Given the description of an element on the screen output the (x, y) to click on. 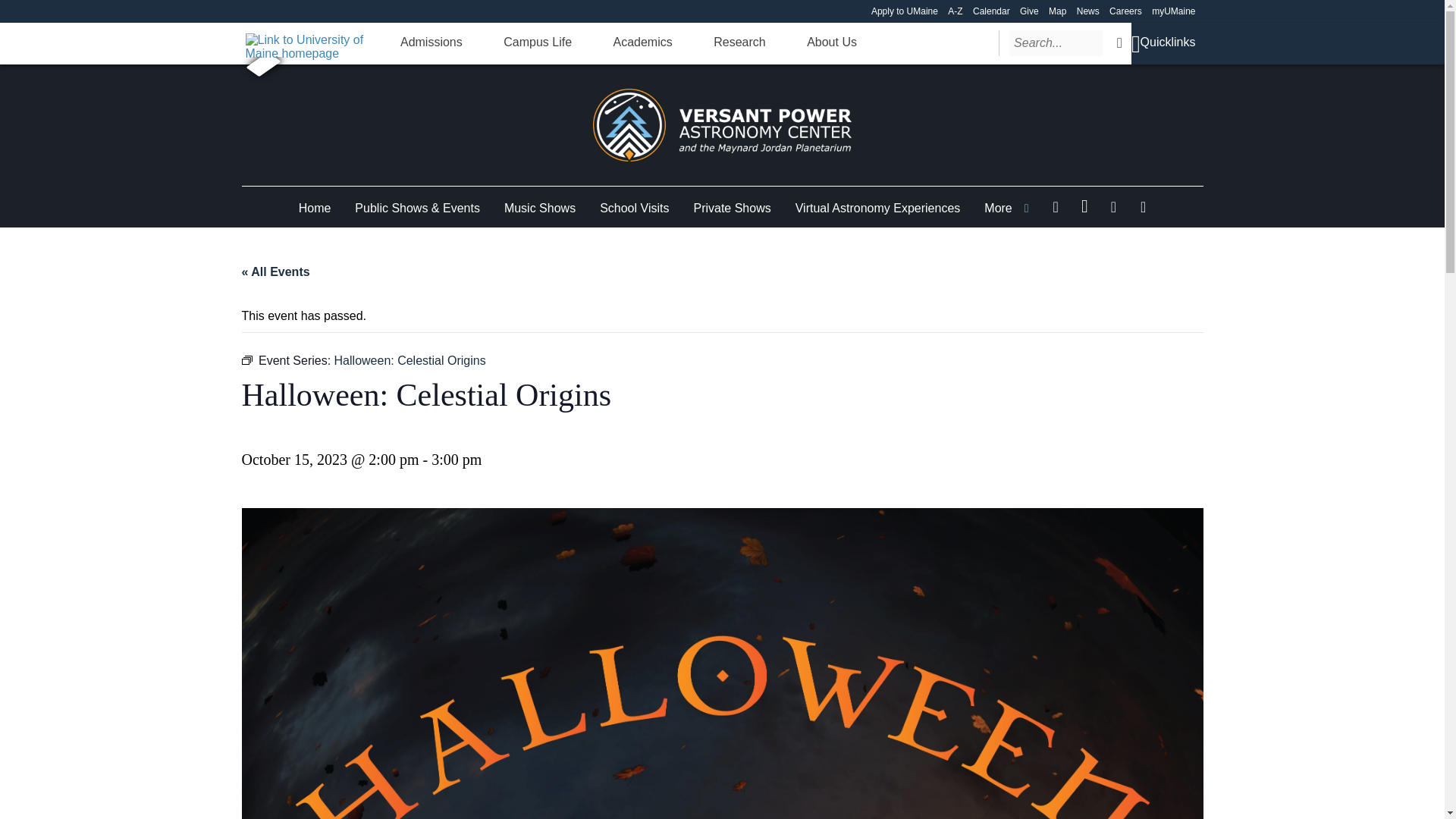
A-Z (954, 10)
Give (1029, 10)
Apply to UMaine (903, 10)
News (1088, 10)
Search (1119, 42)
Event Series (246, 359)
myUMaine (1173, 10)
Search for: (1055, 43)
Careers (1125, 10)
Map (1056, 10)
Admissions (431, 42)
Calendar (991, 10)
